Given the description of an element on the screen output the (x, y) to click on. 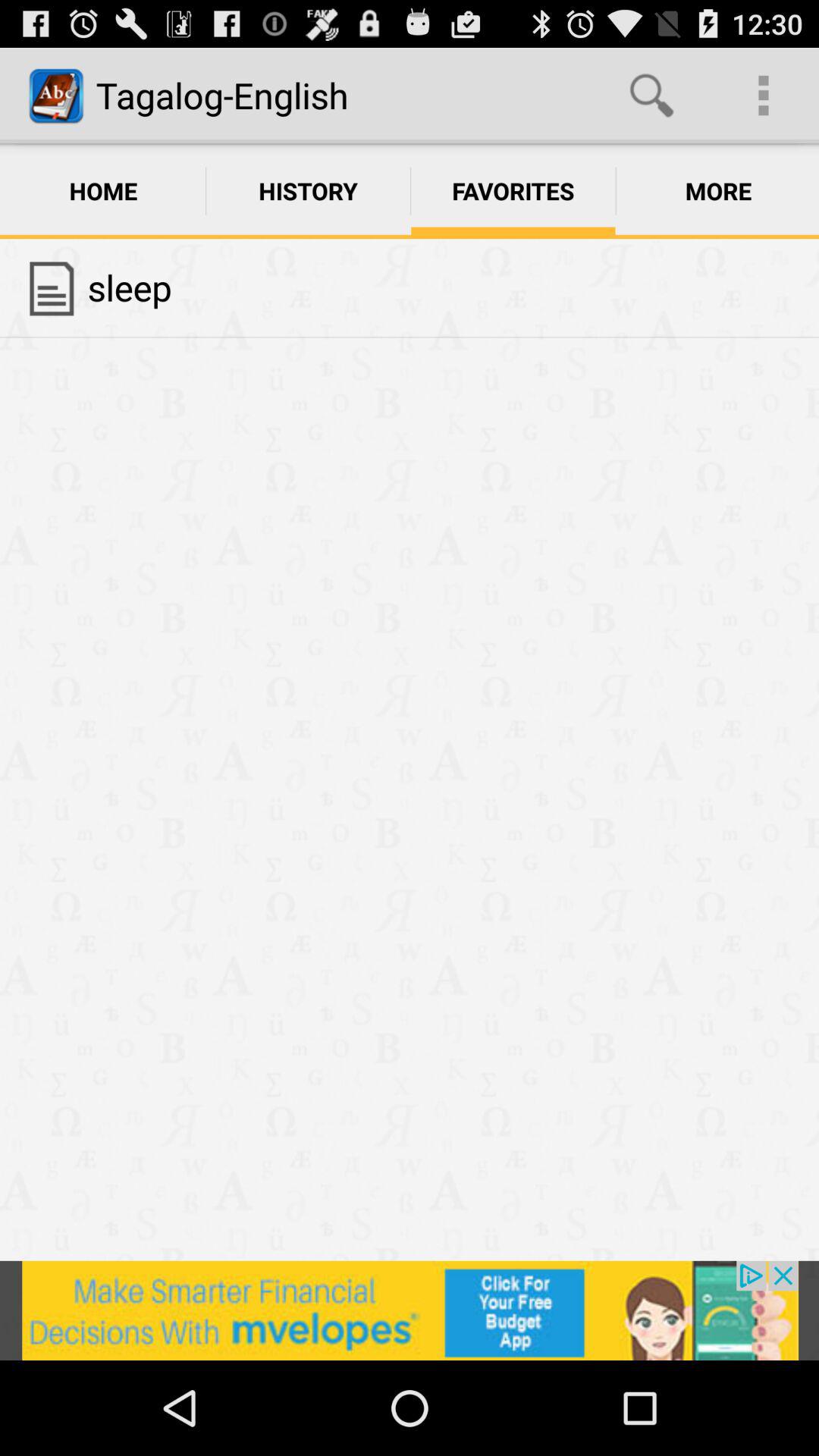
advertisement (409, 1310)
